Given the description of an element on the screen output the (x, y) to click on. 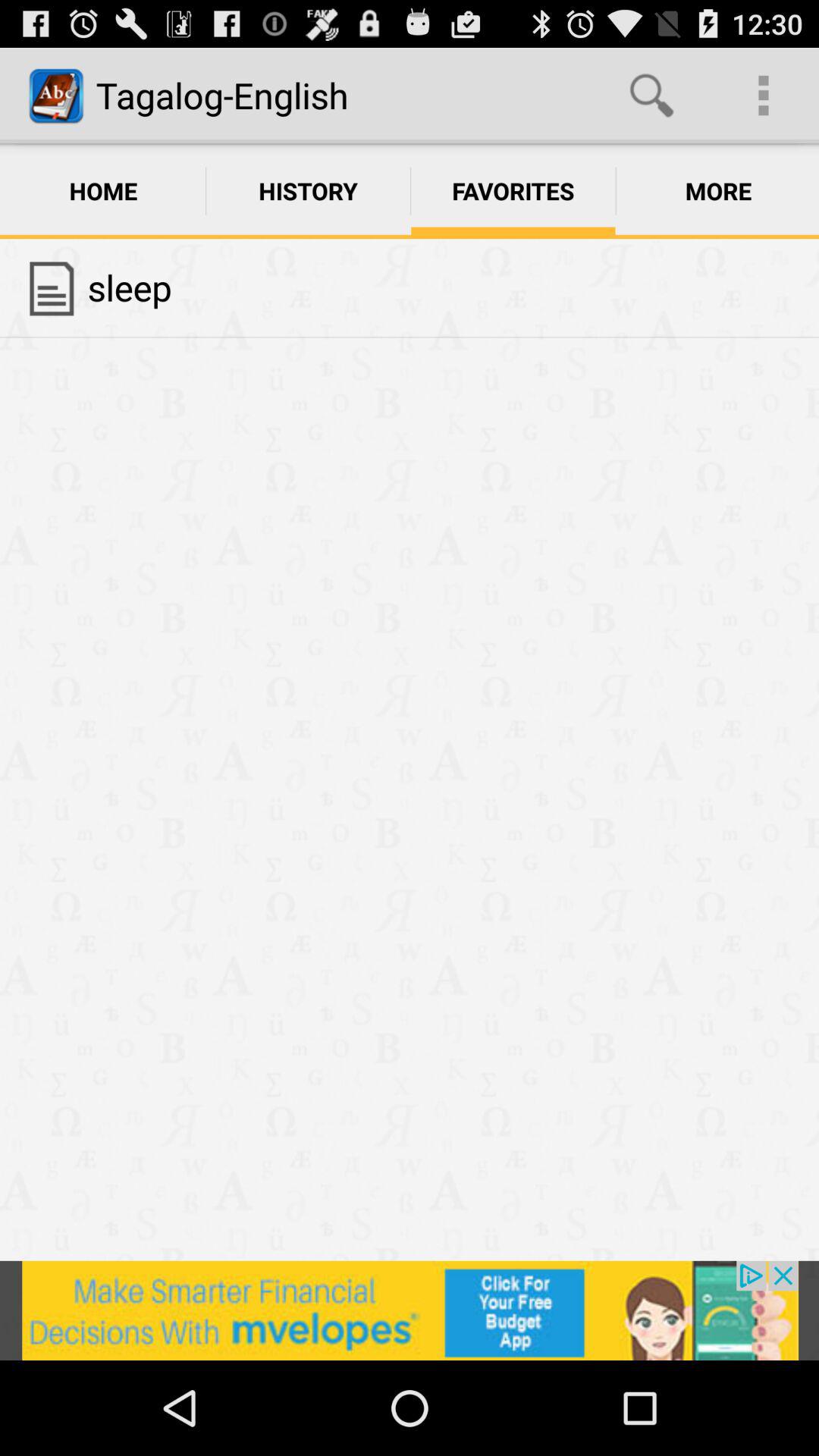
advertisement (409, 1310)
